Given the description of an element on the screen output the (x, y) to click on. 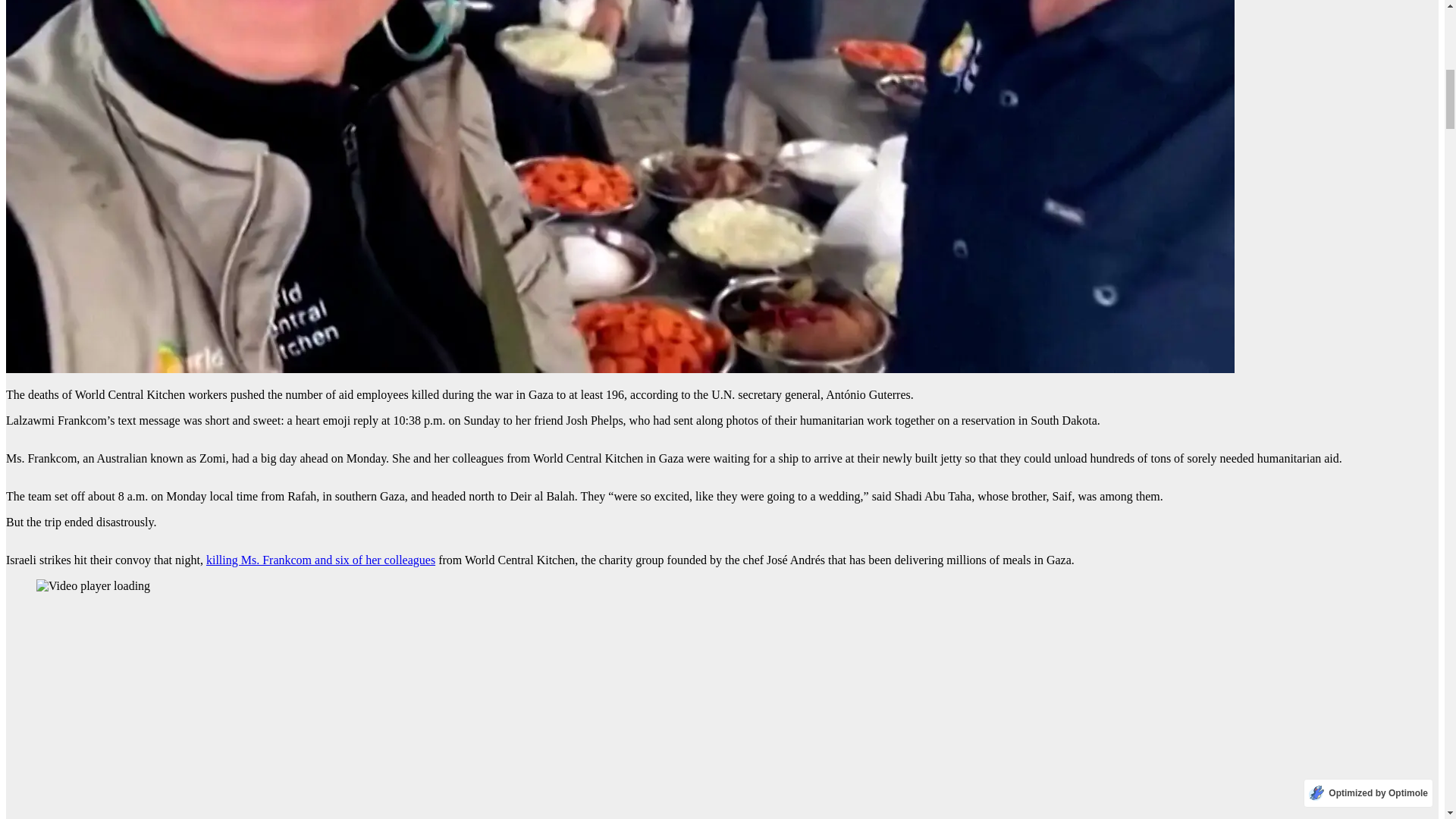
killing Ms. Frankcom and six of her colleagues (320, 559)
